Given the description of an element on the screen output the (x, y) to click on. 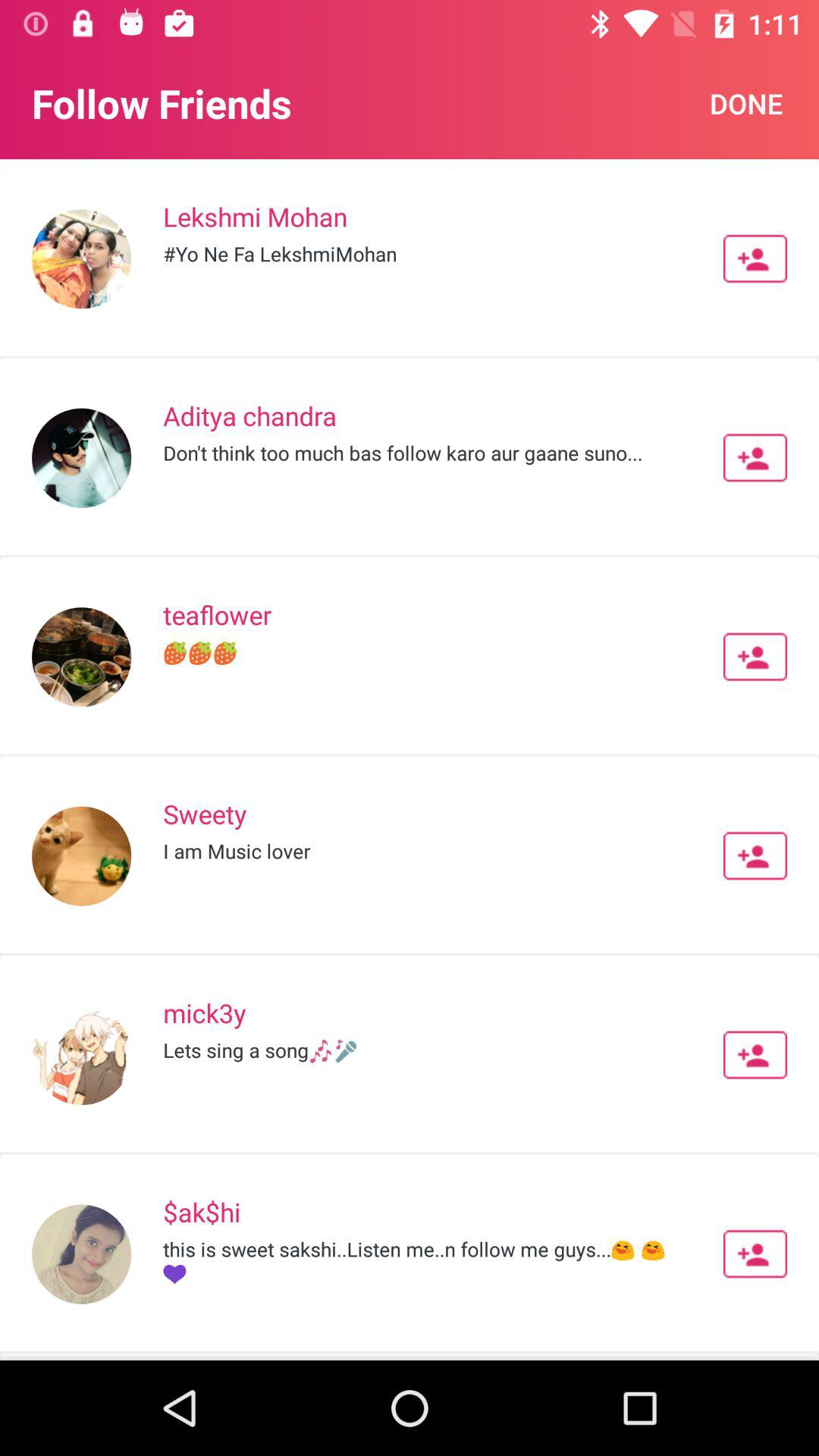
add friend (755, 656)
